Given the description of an element on the screen output the (x, y) to click on. 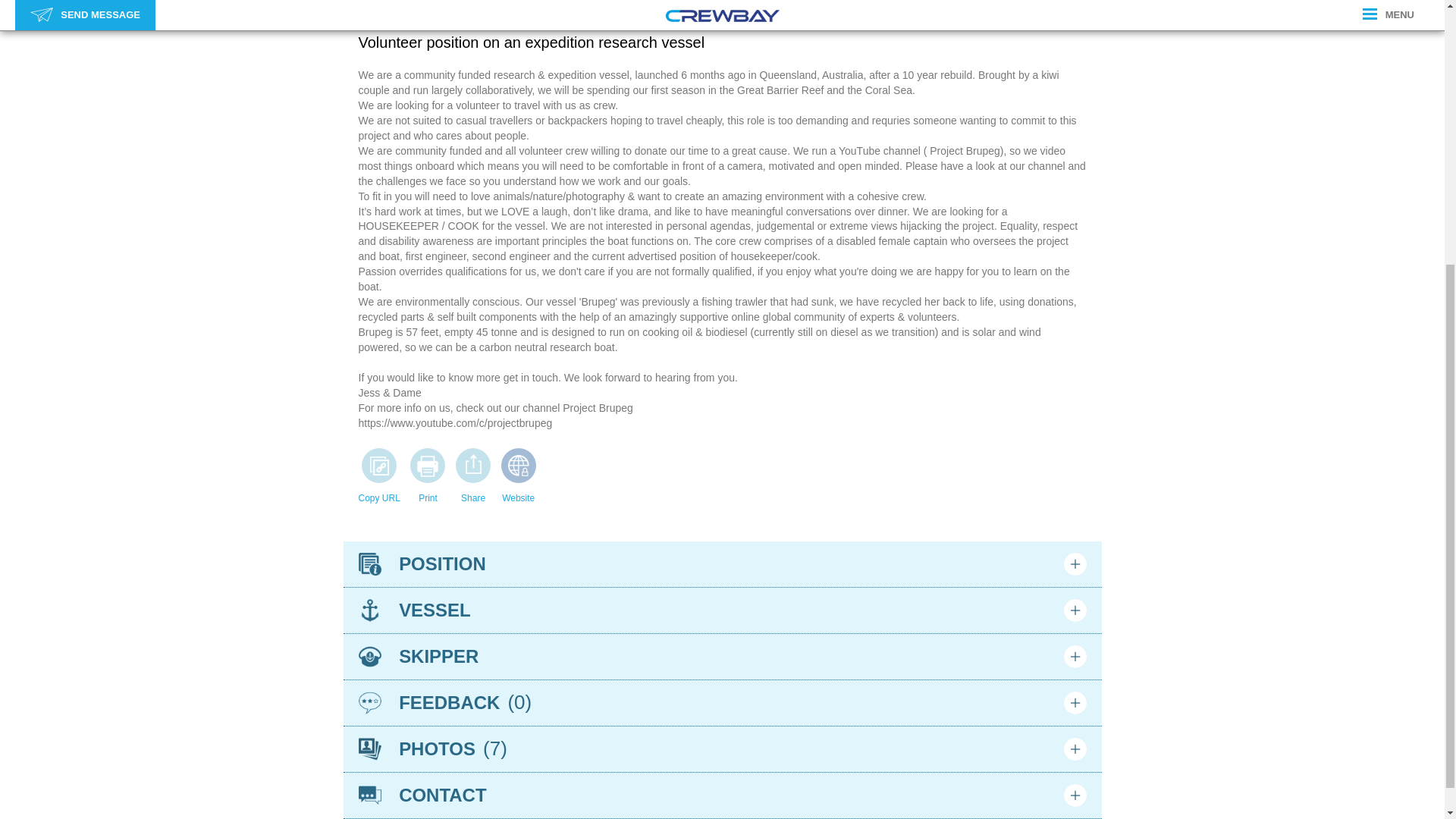
show (1074, 563)
show (1074, 609)
Skipper (369, 656)
Vessel (369, 609)
Copy (378, 465)
show (1074, 702)
Website (518, 465)
Position (369, 563)
Print (427, 465)
show (1074, 656)
